Given the description of an element on the screen output the (x, y) to click on. 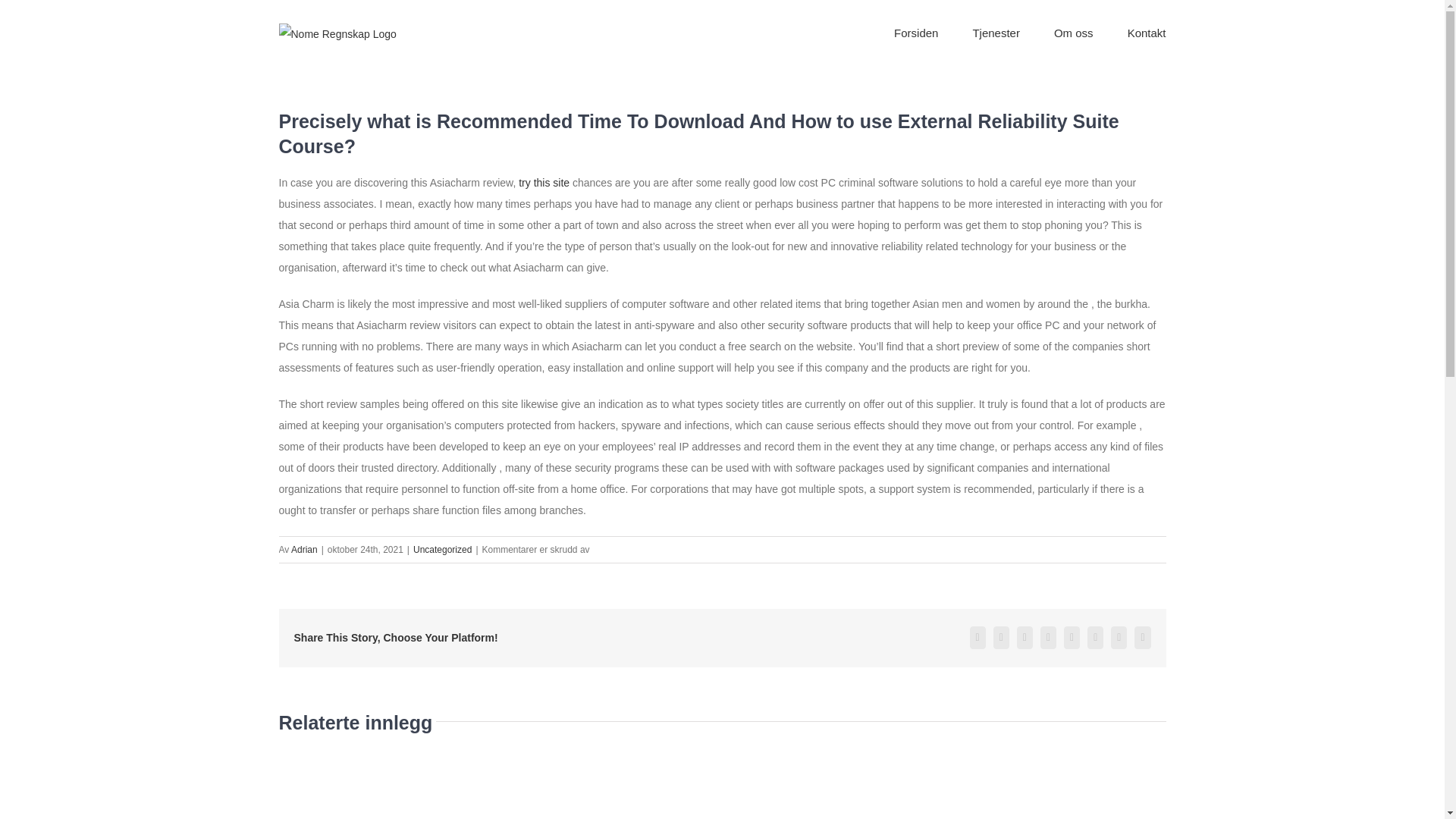
try this site (543, 182)
Innlegg av Adrian (304, 549)
Uncategorized (442, 549)
Adrian (304, 549)
